Given the description of an element on the screen output the (x, y) to click on. 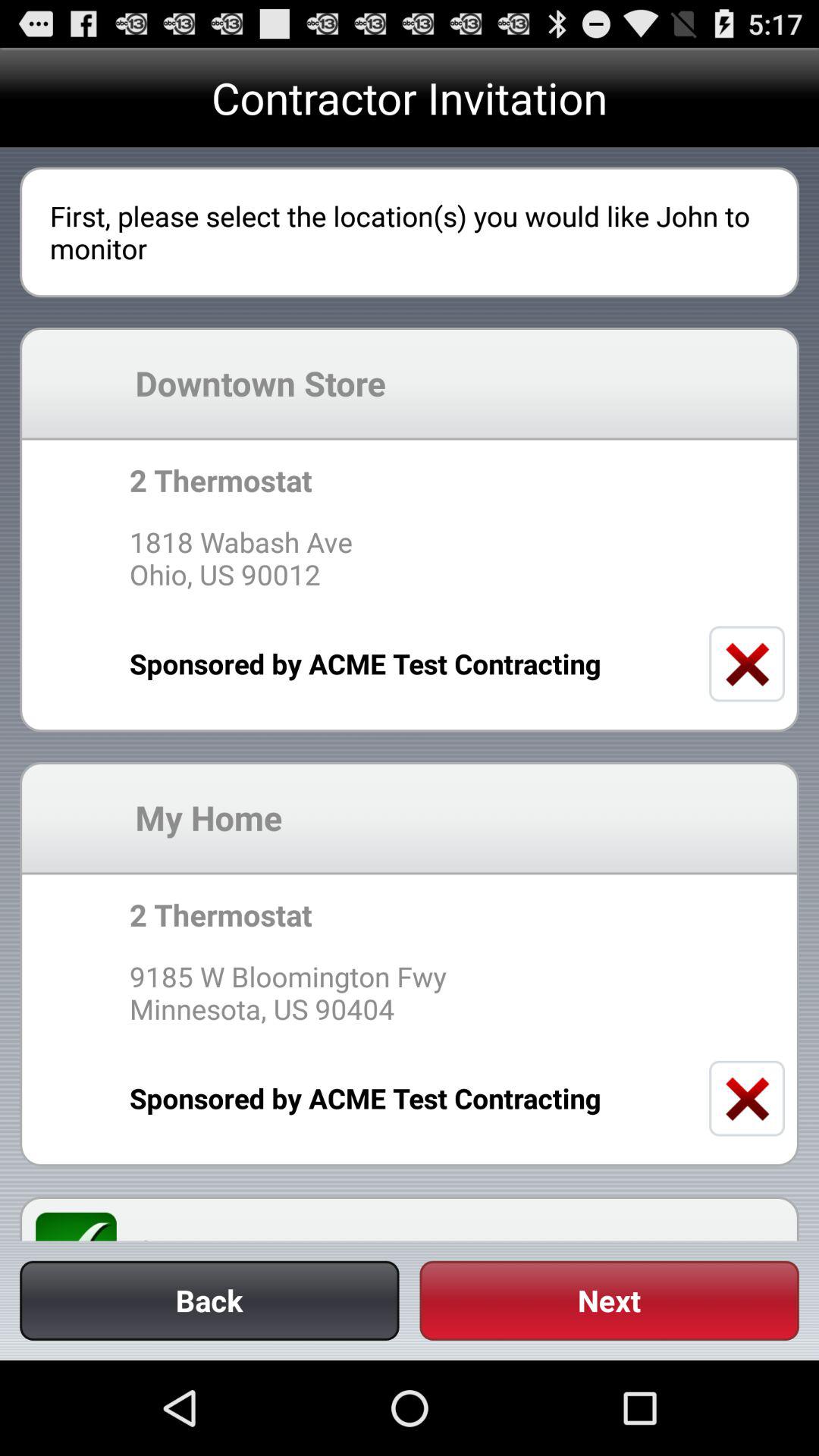
choose the item below the first please select item (459, 383)
